Given the description of an element on the screen output the (x, y) to click on. 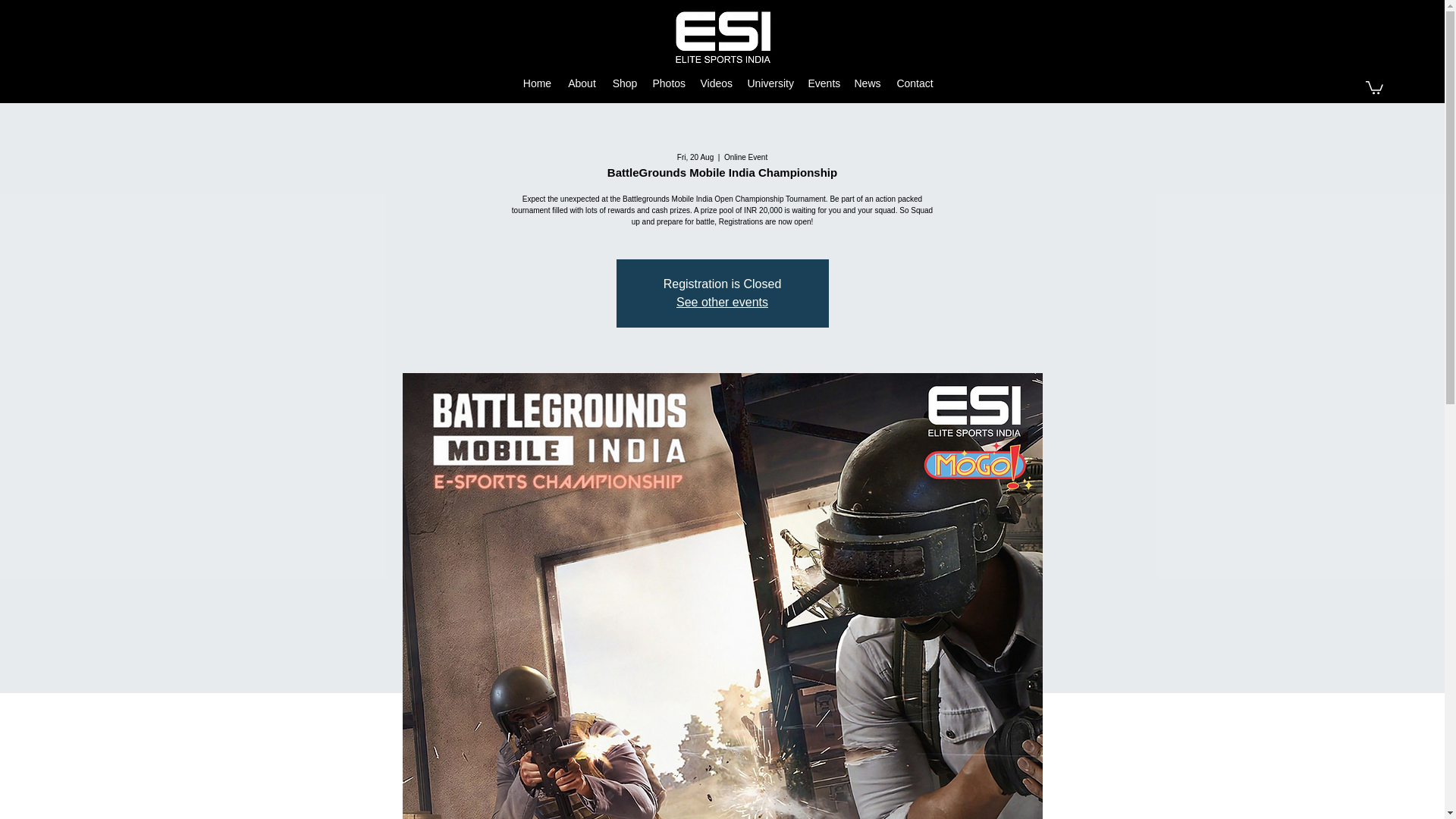
See other events (722, 301)
Contact (915, 83)
Events (823, 83)
Shop (625, 83)
Photos (669, 83)
University (769, 83)
News (866, 83)
Videos (716, 83)
Home (537, 83)
About (582, 83)
